Given the description of an element on the screen output the (x, y) to click on. 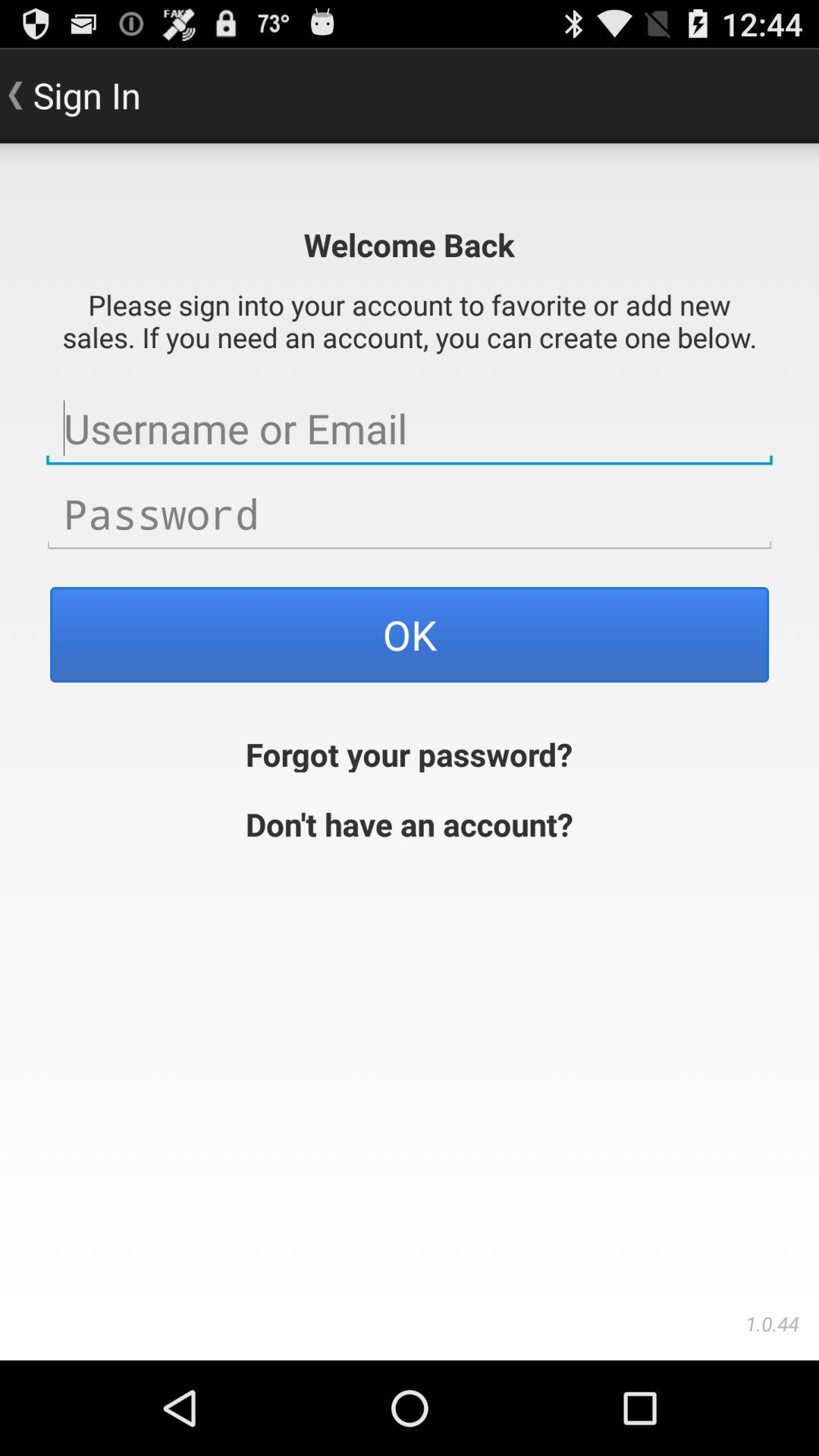
email enter bar (409, 428)
